Given the description of an element on the screen output the (x, y) to click on. 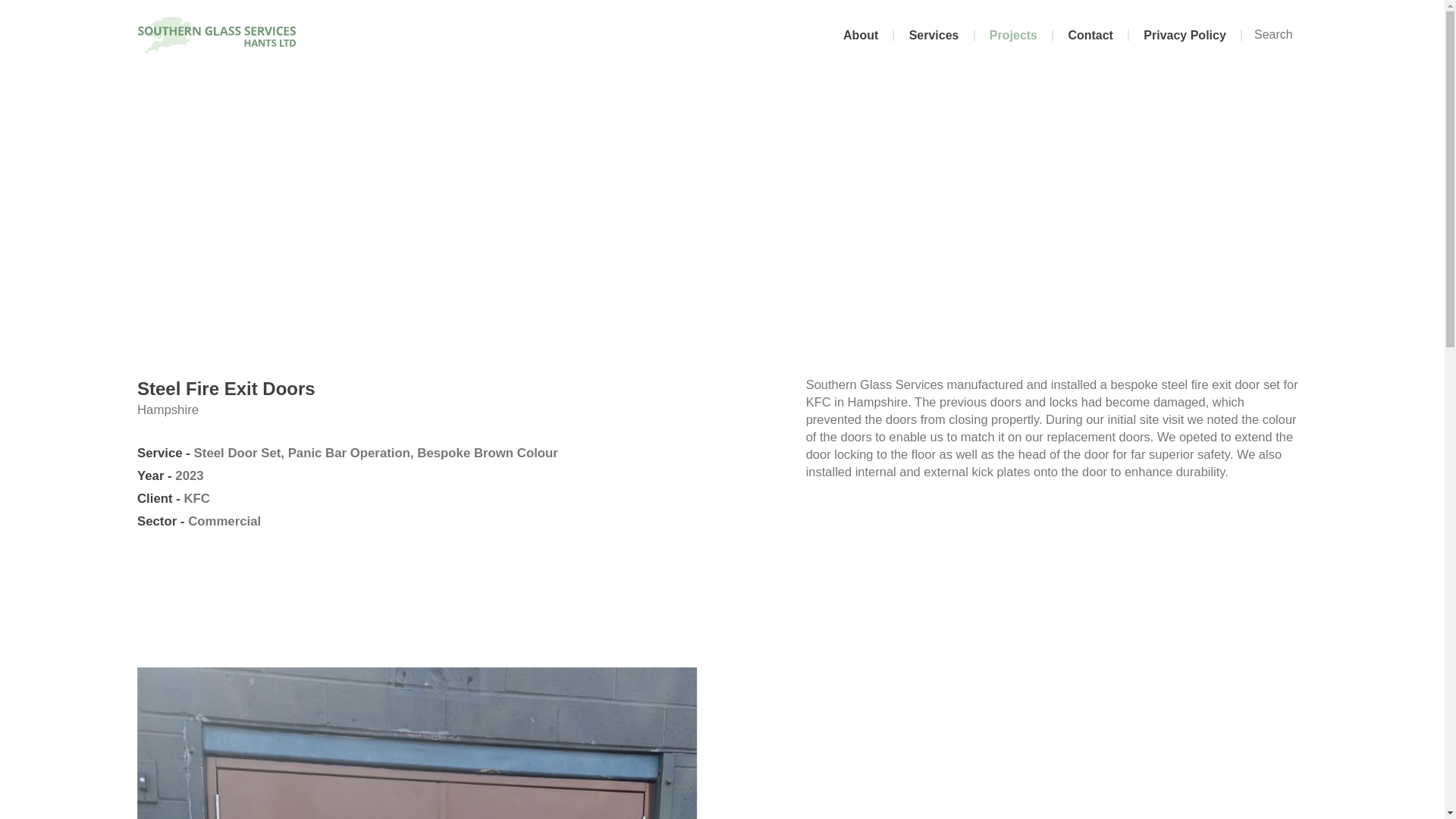
Privacy Policy (1185, 34)
Contact (1090, 34)
Services (933, 34)
Projects (1014, 34)
About (861, 34)
